Given the description of an element on the screen output the (x, y) to click on. 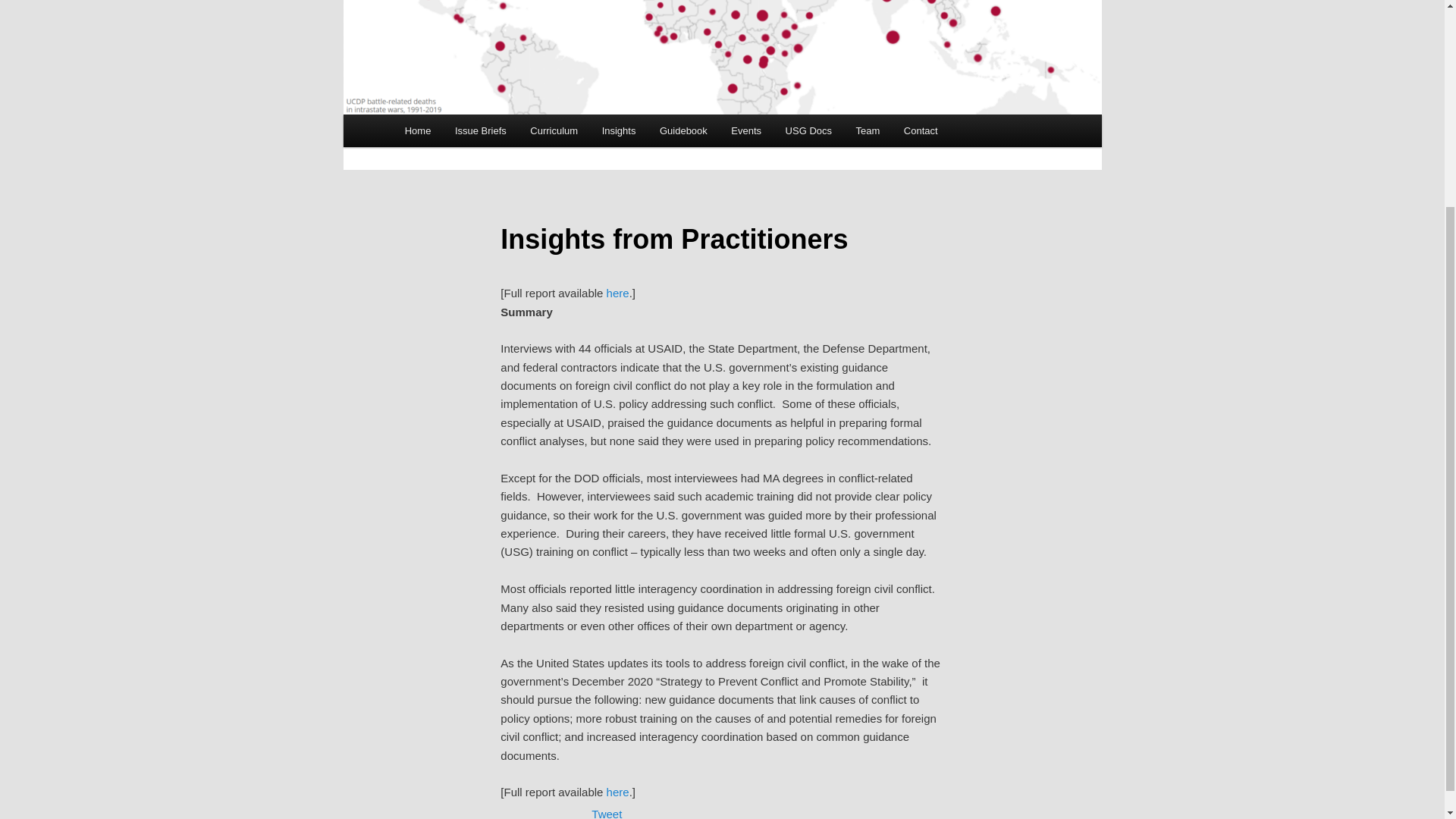
Curriculum (553, 130)
Team (867, 130)
Like Insights from Practitioners on Facebook (545, 810)
Guidebook (683, 130)
Insights (618, 130)
here (617, 292)
Home (417, 130)
here (617, 791)
Events (746, 130)
Issue Briefs (480, 130)
Contact (920, 130)
USG Docs (808, 130)
